Given the description of an element on the screen output the (x, y) to click on. 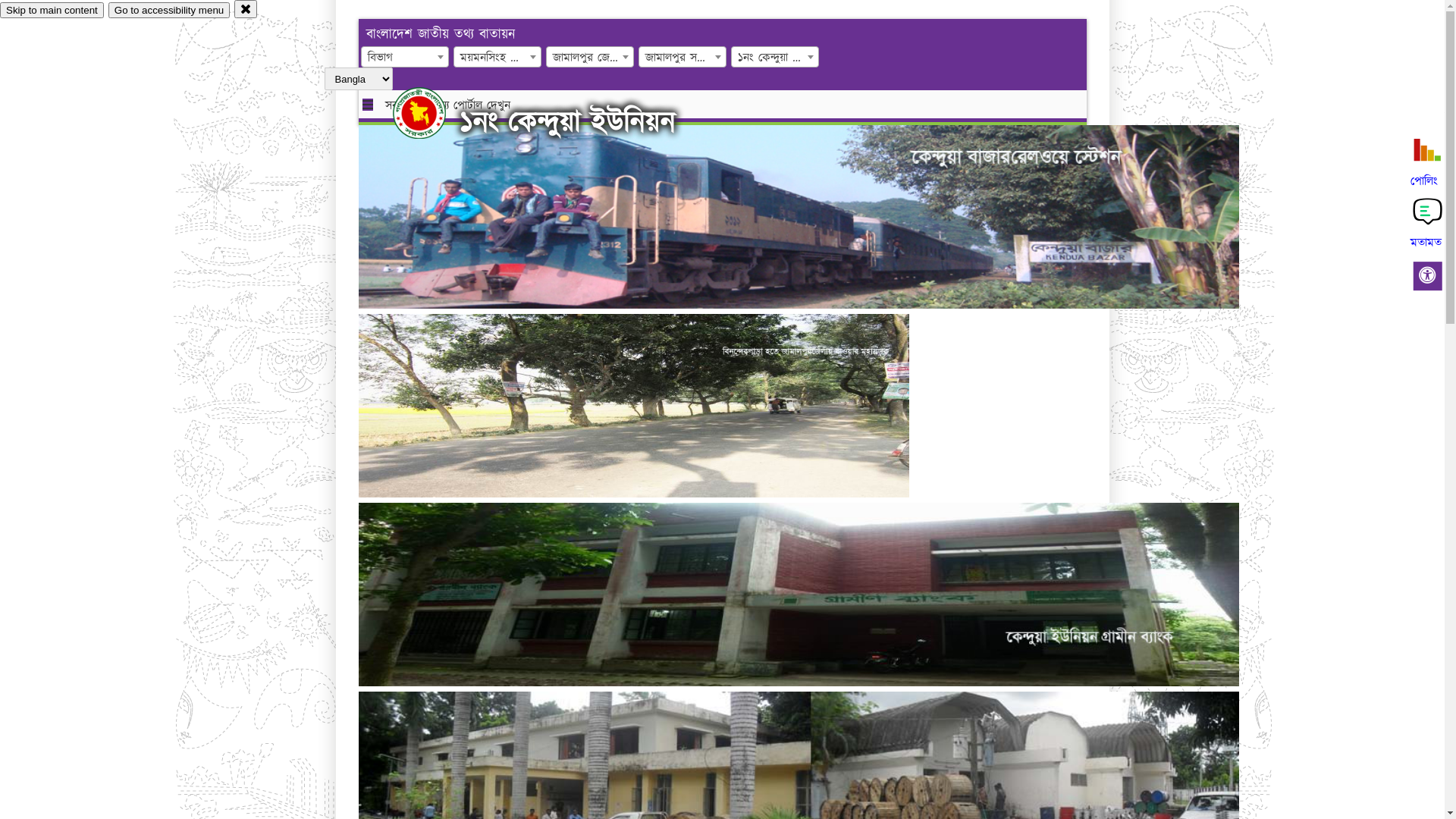
close Element type: hover (245, 9)

                
             Element type: hover (431, 112)
Skip to main content Element type: text (51, 10)
Go to accessibility menu Element type: text (168, 10)
